Given the description of an element on the screen output the (x, y) to click on. 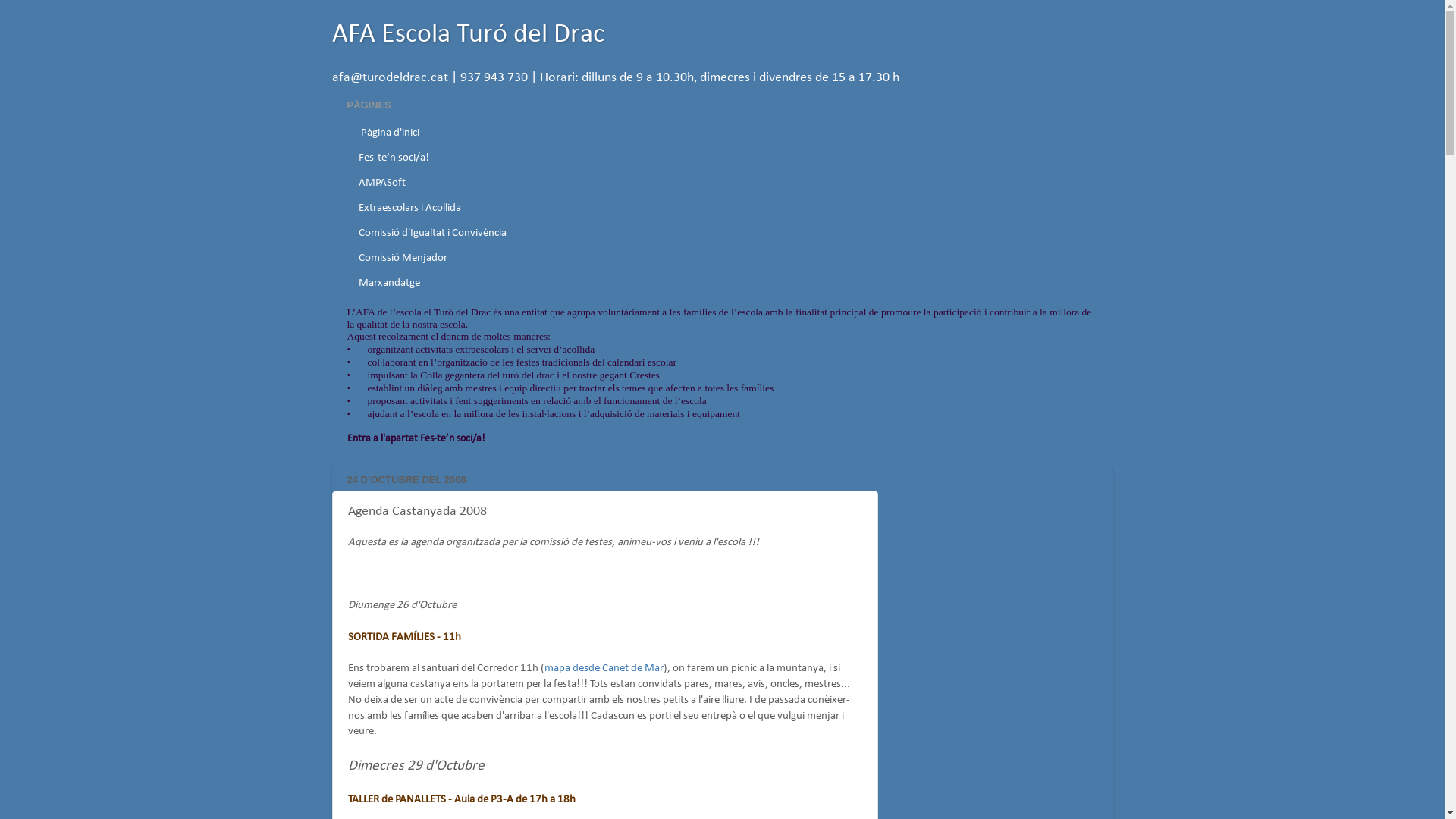
Marxandatge Element type: text (389, 282)
Extraescolars i Acollida Element type: text (410, 207)
mapa desde Canet de Mar Element type: text (603, 668)
AMPASoft Element type: text (382, 182)
